Given the description of an element on the screen output the (x, y) to click on. 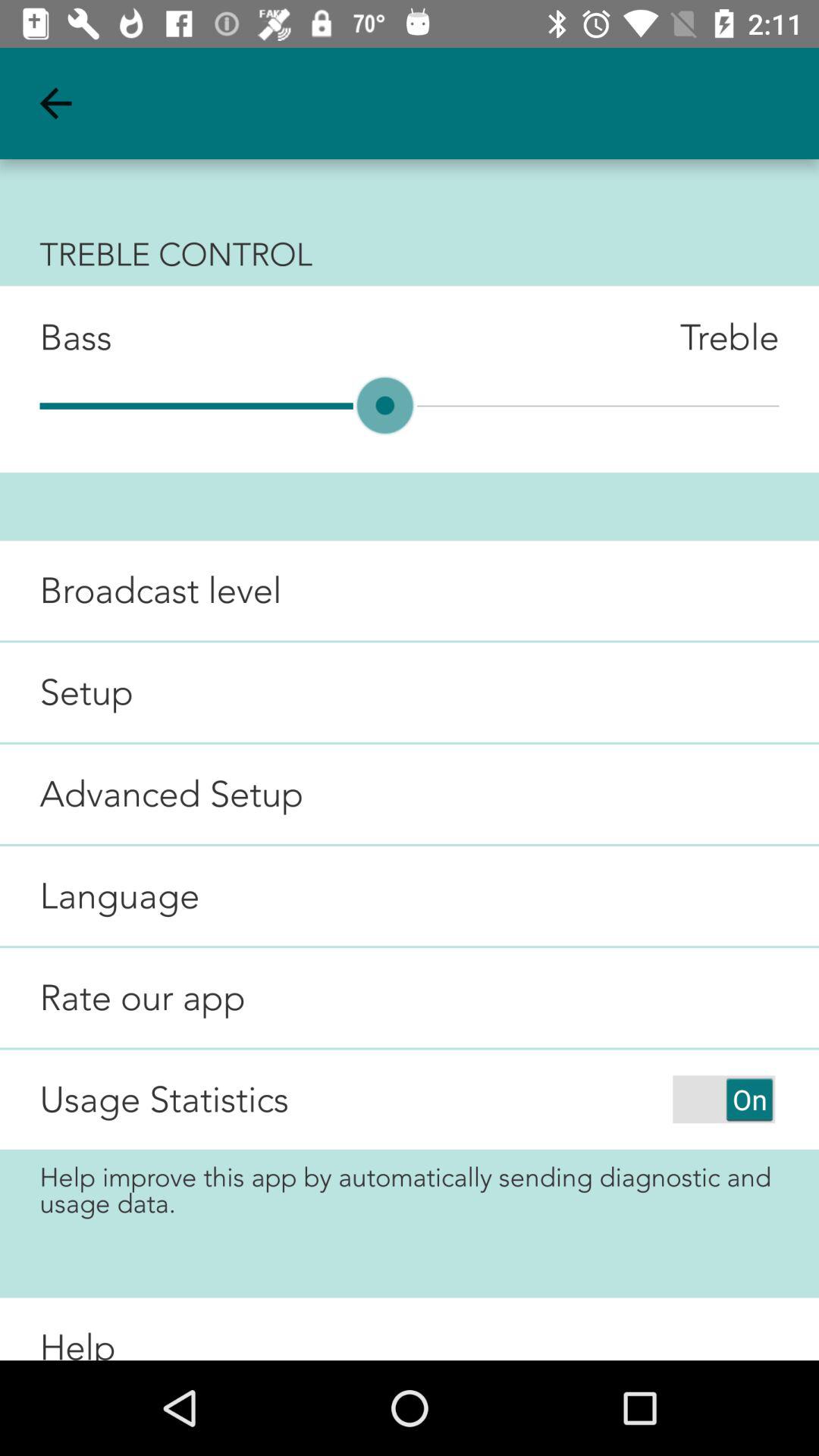
turn on item above usage statistics (122, 997)
